Given the description of an element on the screen output the (x, y) to click on. 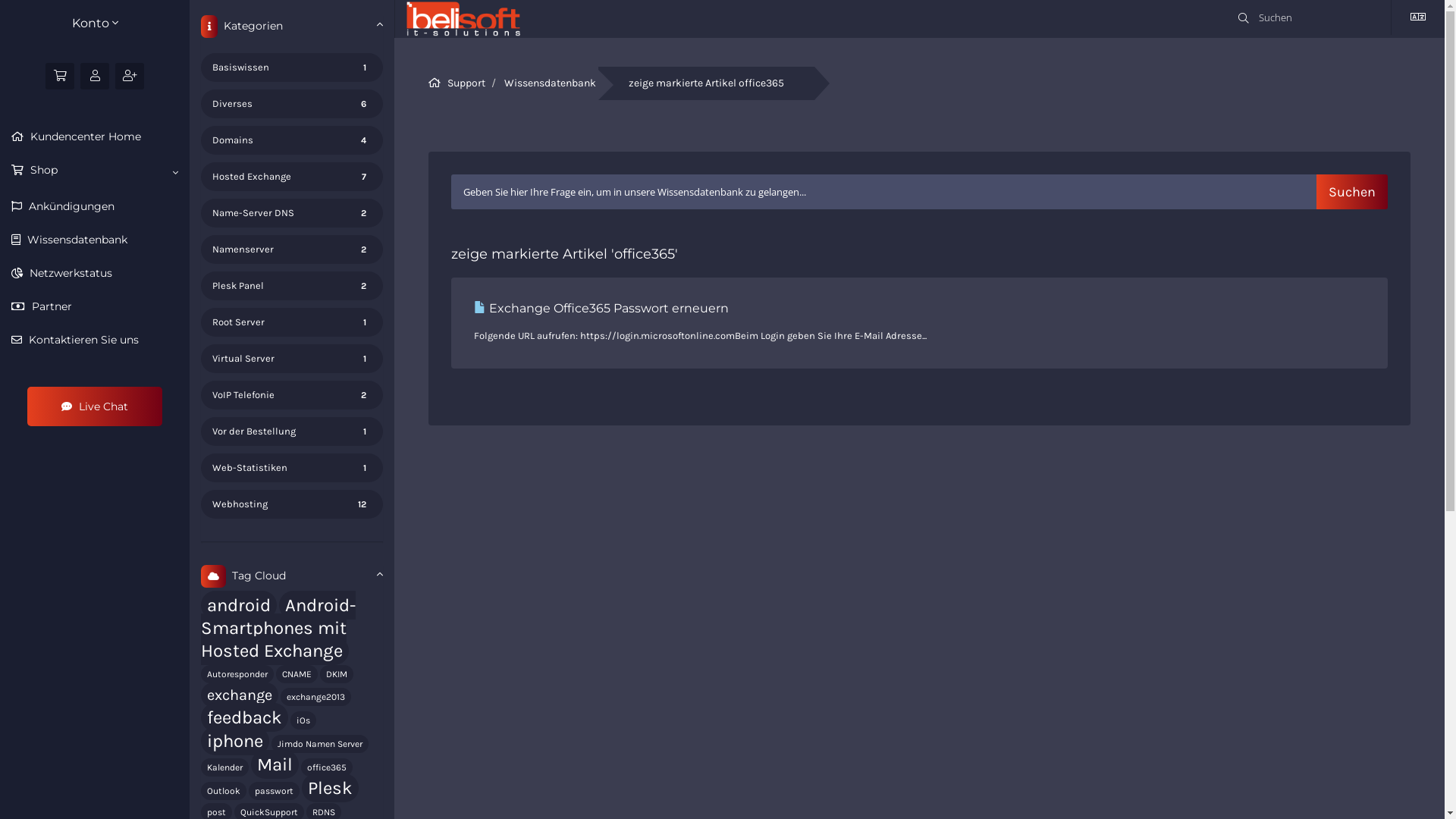
1
Virtual Server Element type: text (291, 358)
exchange2013 Element type: text (315, 696)
Netzwerkstatus Element type: text (94, 272)
Suchen Element type: text (1351, 191)
1
Vor der Bestellung Element type: text (291, 431)
Jimdo Namen Server Element type: text (319, 743)
2
Namenserver Element type: text (291, 249)
2
Name-Server DNS Element type: text (291, 212)
Outlook Element type: text (223, 790)
2
Plesk Panel Element type: text (291, 285)
passwort Element type: text (273, 790)
Autoresponder Element type: text (236, 674)
Live Chat Element type: text (94, 406)
Partner Element type: text (94, 306)
Support Element type: text (466, 82)
iphone Element type: text (234, 740)
12
Webhosting Element type: text (291, 503)
Konto Element type: text (94, 23)
 Exchange Office365 Passwort erneuern Element type: text (600, 308)
iOs Element type: text (303, 720)
1
Root Server Element type: text (291, 321)
Wissensdatenbank Element type: text (94, 239)
office365 Element type: text (326, 767)
Android-Smartphones mit Hosted Exchange Element type: text (277, 627)
DKIM Element type: text (336, 674)
6
Diverses Element type: text (291, 103)
Wissensdatenbank Element type: text (550, 82)
1
Basiswissen Element type: text (291, 67)
Einloggen Element type: hover (94, 75)
2
VoIP Telefonie Element type: text (291, 394)
Kontaktieren Sie uns Element type: text (94, 339)
Registrieren Element type: hover (129, 75)
Kalender Element type: text (224, 767)
1
Web-Statistiken Element type: text (291, 467)
feedback Element type: text (244, 716)
Kundencenter Home Element type: text (94, 136)
Plesk Element type: text (329, 787)
4
Domains Element type: text (291, 139)
android Element type: text (238, 604)
Shop Element type: text (94, 171)
Shopping Cart Element type: hover (59, 75)
CNAME Element type: text (296, 674)
exchange Element type: text (239, 694)
7
Hosted Exchange Element type: text (291, 176)
Mail Element type: text (274, 763)
